Given the description of an element on the screen output the (x, y) to click on. 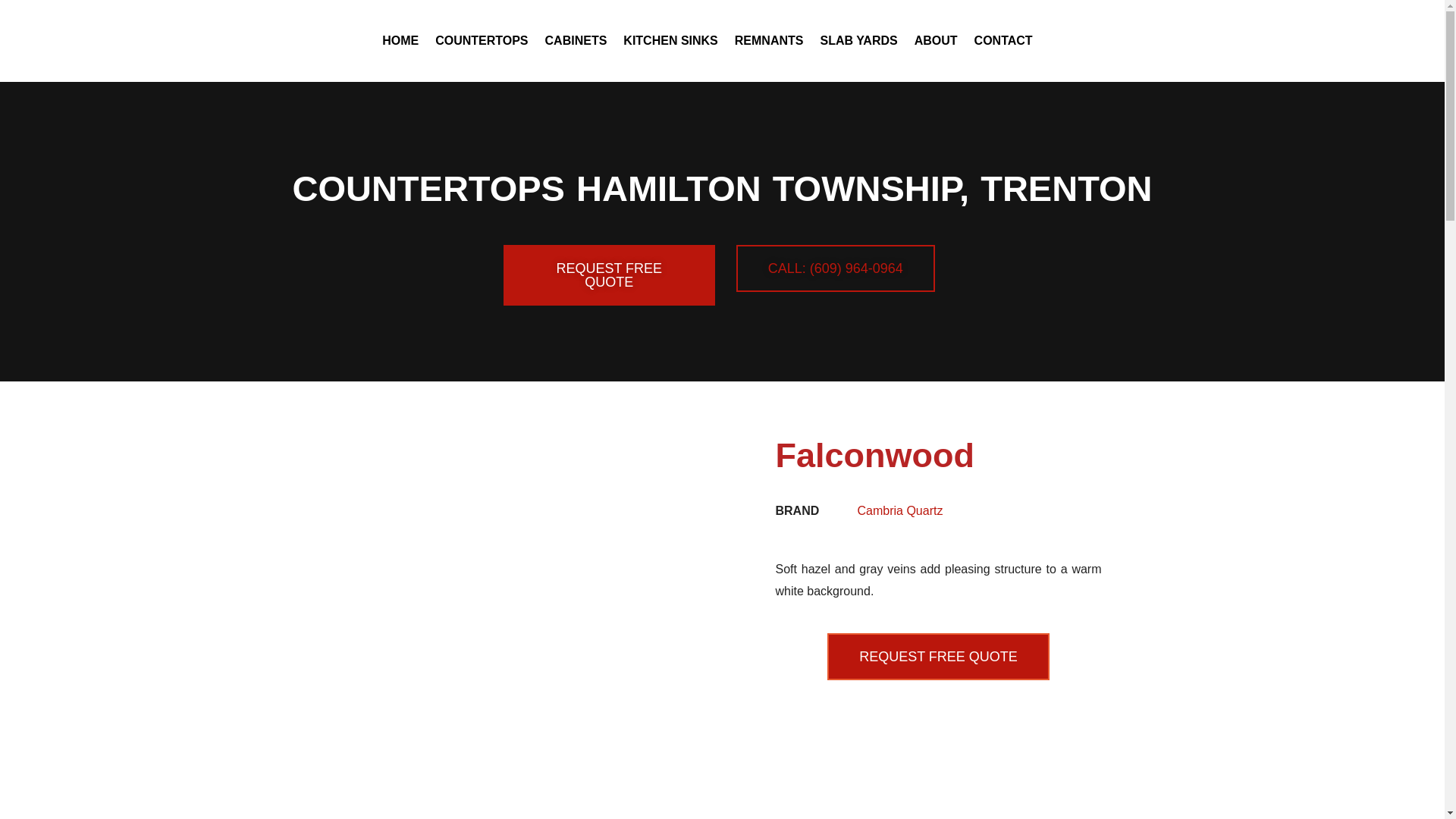
REMNANTS (769, 40)
CONTACT (1003, 40)
Home (400, 40)
CABINETS (575, 40)
ABOUT (936, 40)
HOME (400, 40)
SLAB YARDS (857, 40)
KITCHEN SINKS (670, 40)
REQUEST FREE QUOTE (608, 274)
COUNTERTOPS (481, 40)
Countertops (481, 40)
